Given the description of an element on the screen output the (x, y) to click on. 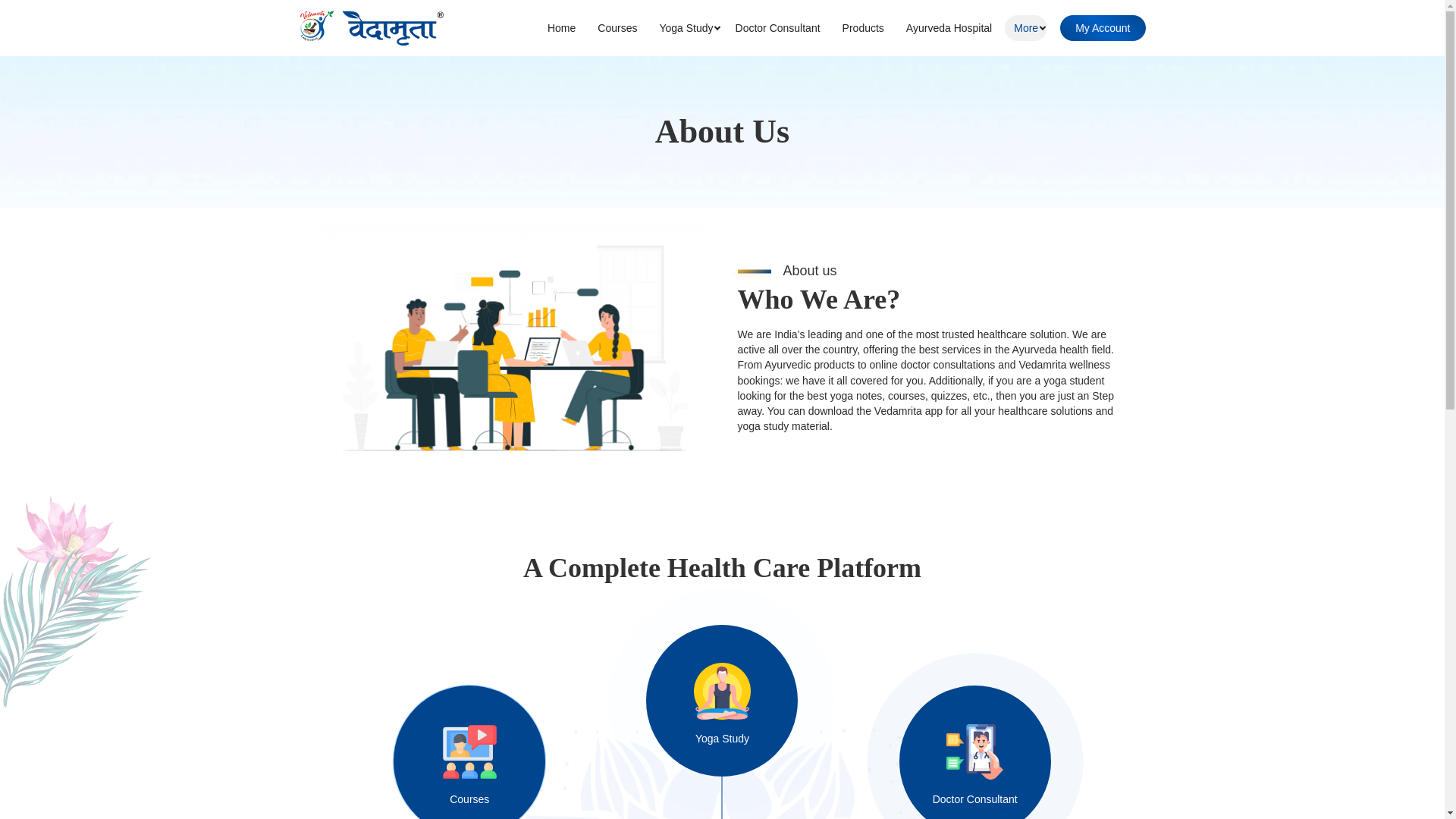
Products (862, 27)
Home (561, 27)
My Account (1101, 27)
cropped-logo-2 (369, 27)
Yoga Study (722, 700)
Doctor Consultant (1011, 752)
Yoga Study (685, 27)
Ayurveda Hospital (948, 27)
More (1025, 27)
Doctor Consultant (777, 27)
Courses (617, 27)
Courses (432, 752)
